Given the description of an element on the screen output the (x, y) to click on. 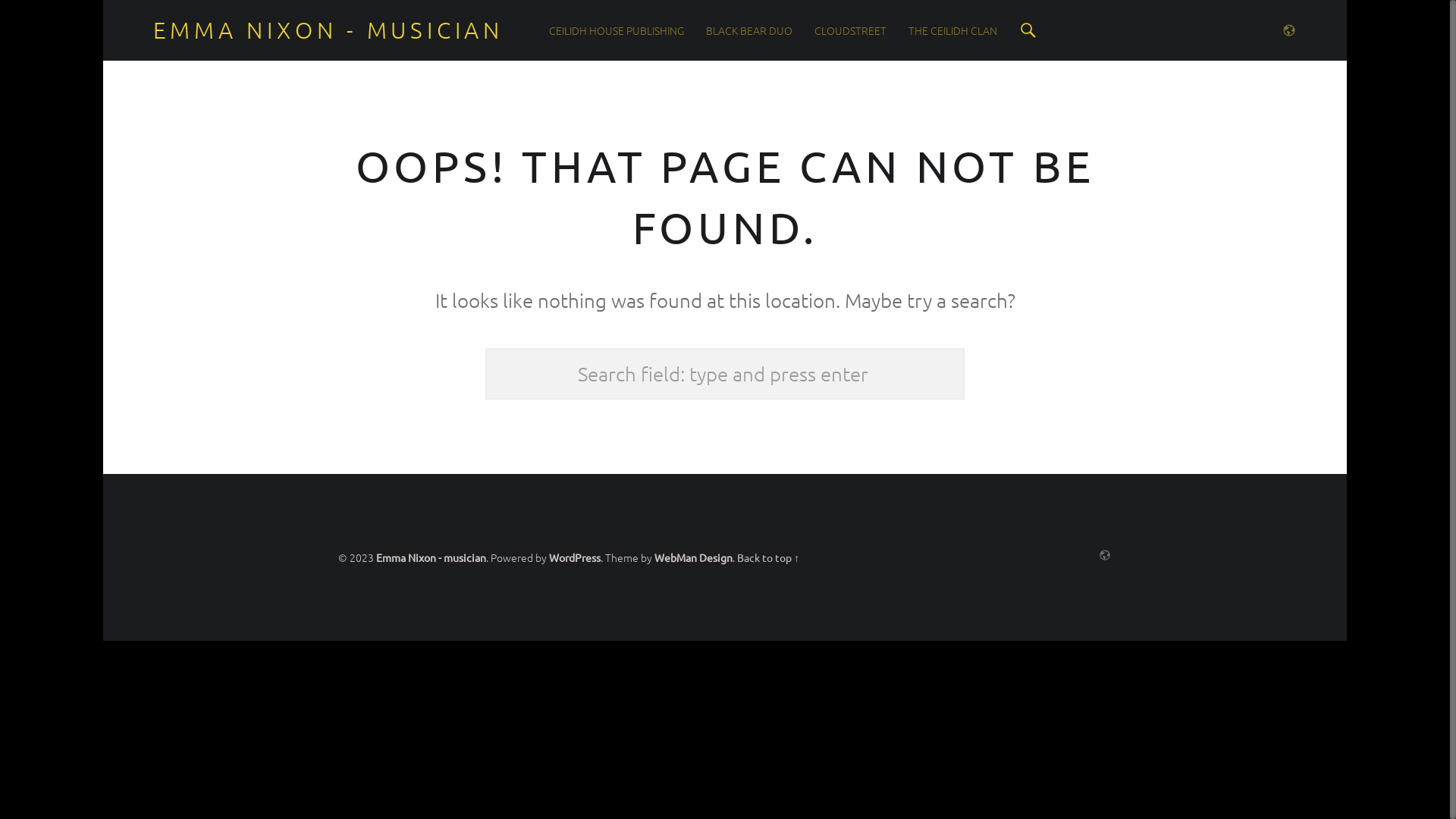
Search Element type: text (1028, 30)
CLOUDSTREET Element type: text (850, 30)
CEILIDH HOUSE PUBLISHING Element type: text (616, 30)
EMMA NIXON - MUSICIAN Element type: text (328, 29)
Contact Emma Element type: text (1284, 30)
Contact Emma Element type: text (1100, 554)
WordPress Element type: text (574, 557)
THE CEILIDH CLAN Element type: text (952, 30)
WebMan Design Element type: text (693, 557)
Skip to content Element type: text (549, 0)
BLACK BEAR DUO Element type: text (749, 30)
Emma Nixon - musician Element type: text (431, 557)
